Given the description of an element on the screen output the (x, y) to click on. 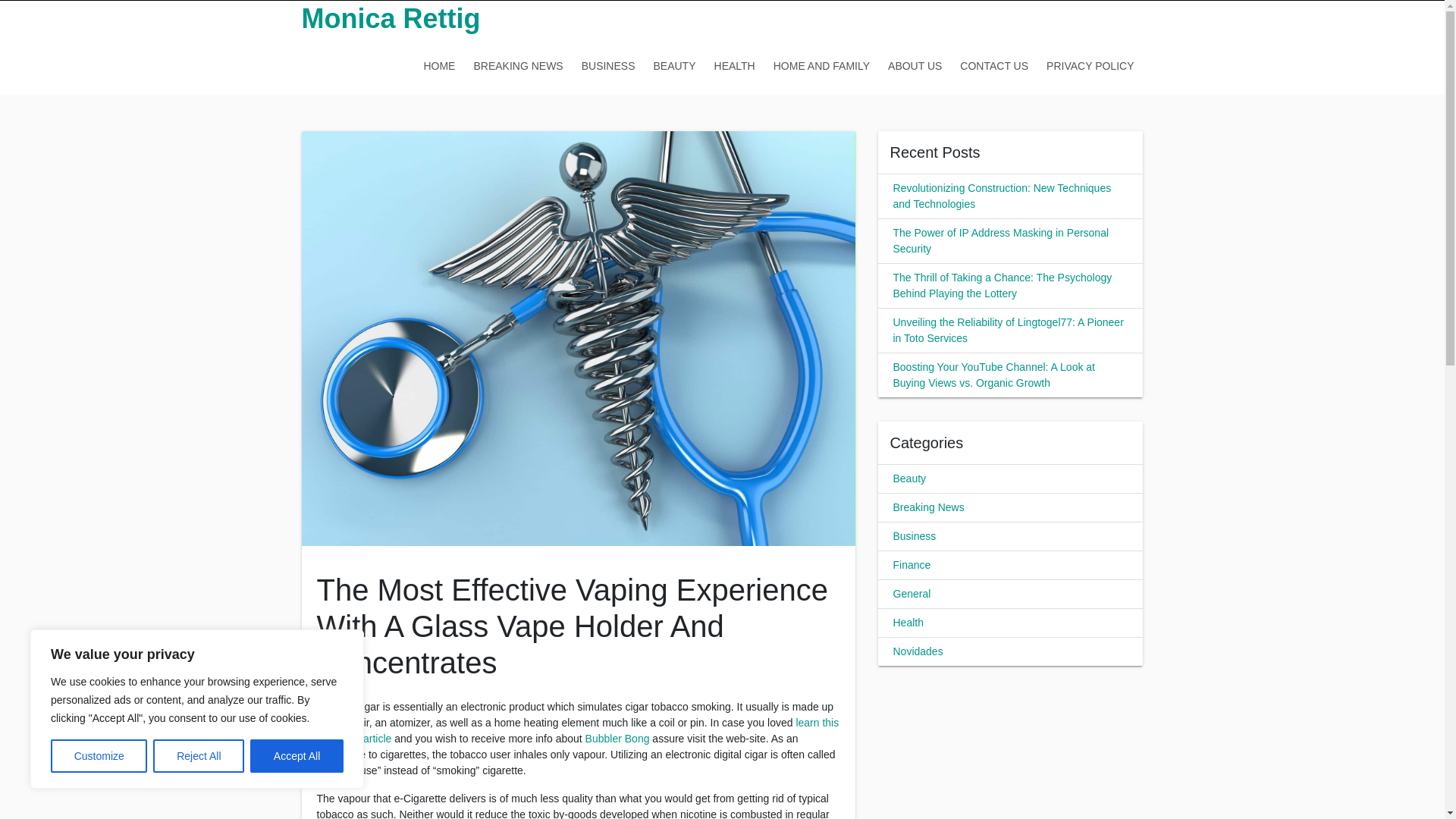
Accept All (296, 756)
Monica Rettig (390, 18)
HEALTH (734, 65)
Reject All (198, 756)
BUSINESS (608, 65)
BREAKING NEWS (518, 65)
Customize (98, 756)
